Given the description of an element on the screen output the (x, y) to click on. 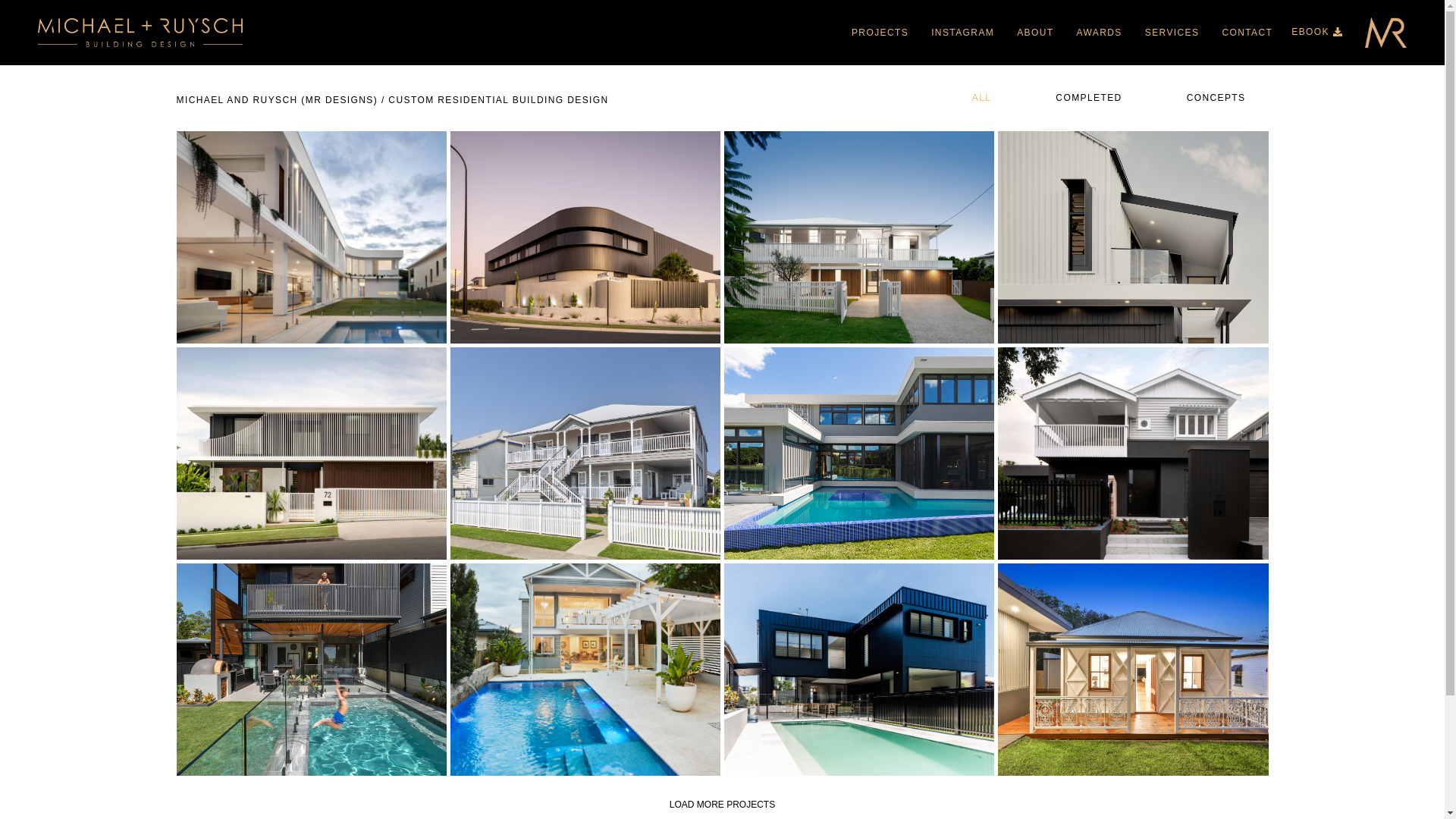
AWARDS Element type: text (1099, 32)
ABOUT Element type: text (1034, 32)
CONCEPTS Element type: text (1214, 99)
COMPLETED Element type: text (1086, 99)
LOAD MORE PROJECTS Element type: text (722, 804)
PROJECTS Element type: text (879, 32)
INSTAGRAM Element type: text (962, 32)
ALL Element type: text (979, 99)
CONTACT Element type: text (1246, 32)
EBOOK Element type: text (1316, 32)
SERVICES Element type: text (1172, 32)
